Given the description of an element on the screen output the (x, y) to click on. 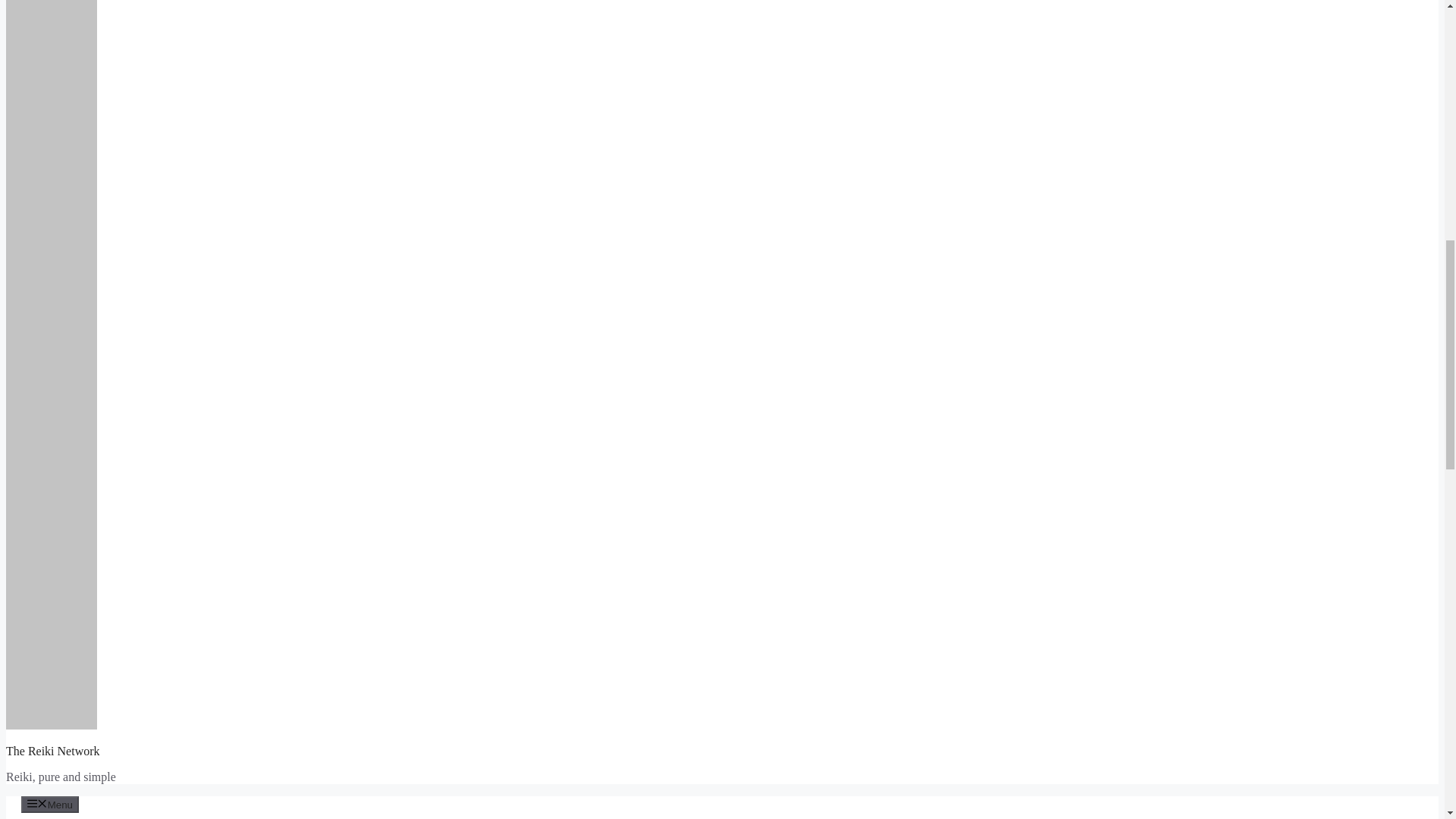
The Reiki Network (52, 750)
Menu (49, 804)
